Given the description of an element on the screen output the (x, y) to click on. 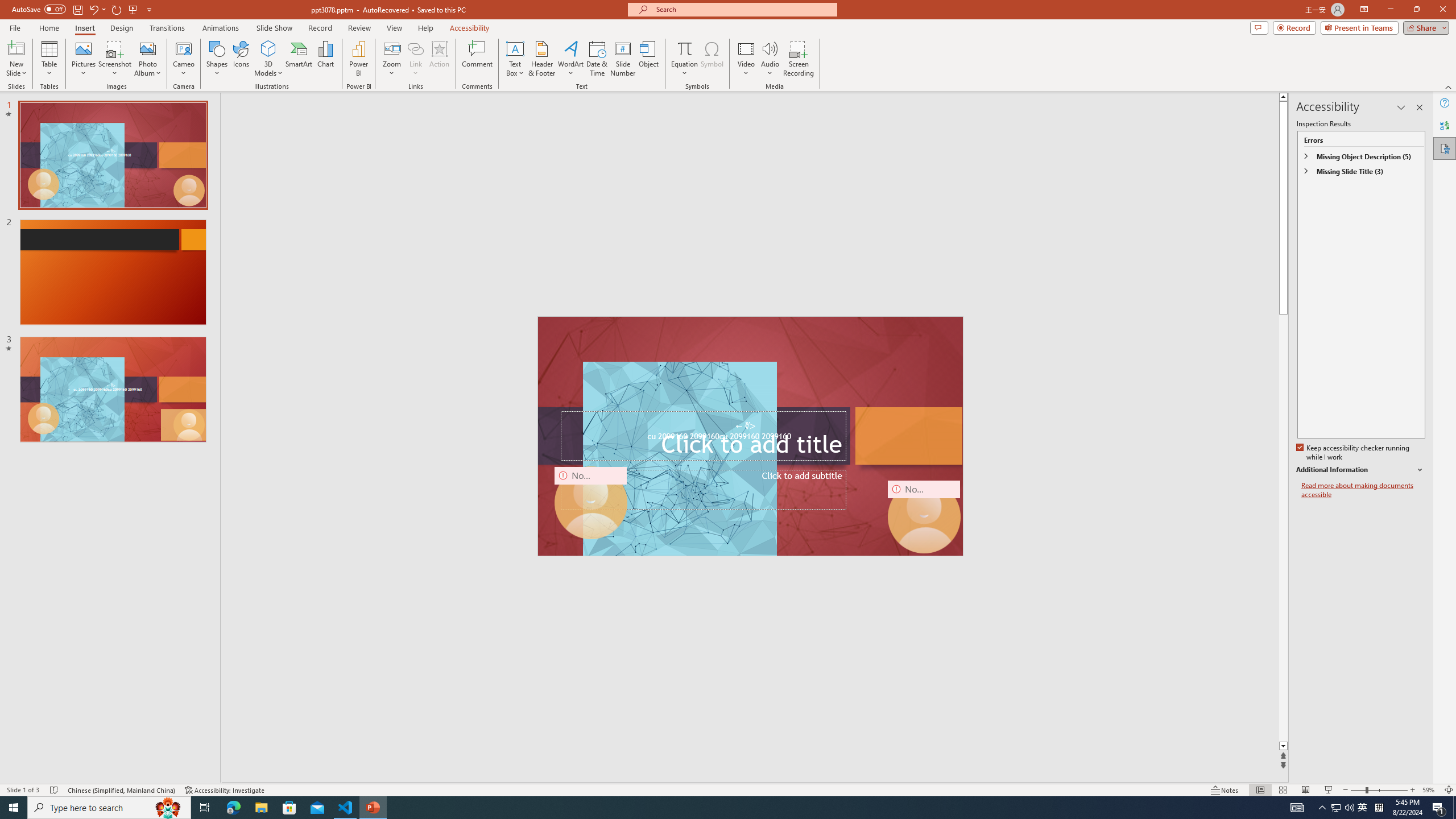
Link (415, 48)
Link (415, 58)
Zoom 59% (1430, 790)
Chart... (325, 58)
Symbol... (711, 58)
Date & Time... (596, 58)
